Given the description of an element on the screen output the (x, y) to click on. 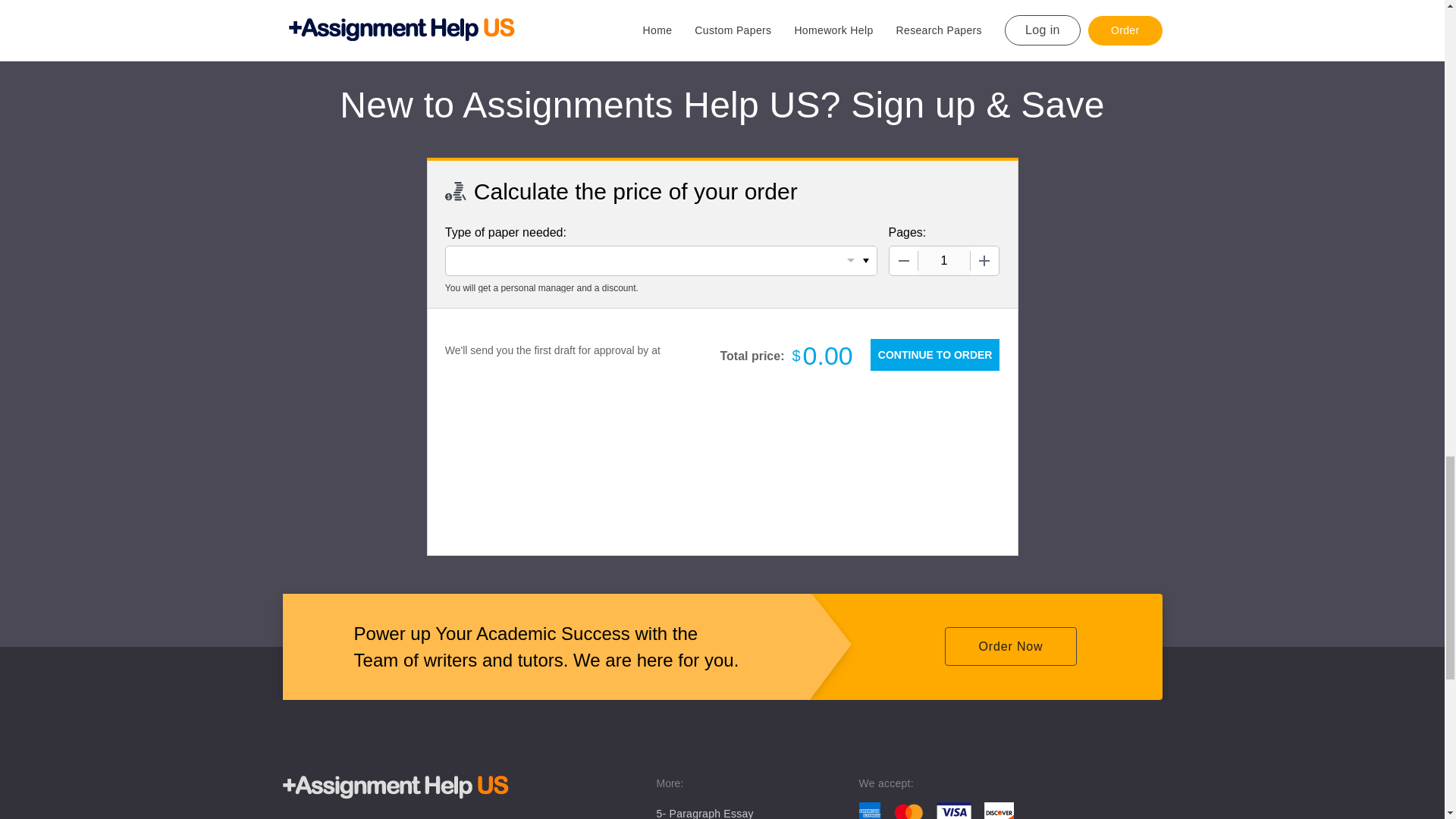
Continue to order (934, 355)
Continue to Order (934, 355)
1 (943, 260)
5- Paragraph Essay (705, 813)
Increase (983, 260)
Continue to order (934, 355)
Order Now (1009, 646)
Decrease (902, 260)
